Given the description of an element on the screen output the (x, y) to click on. 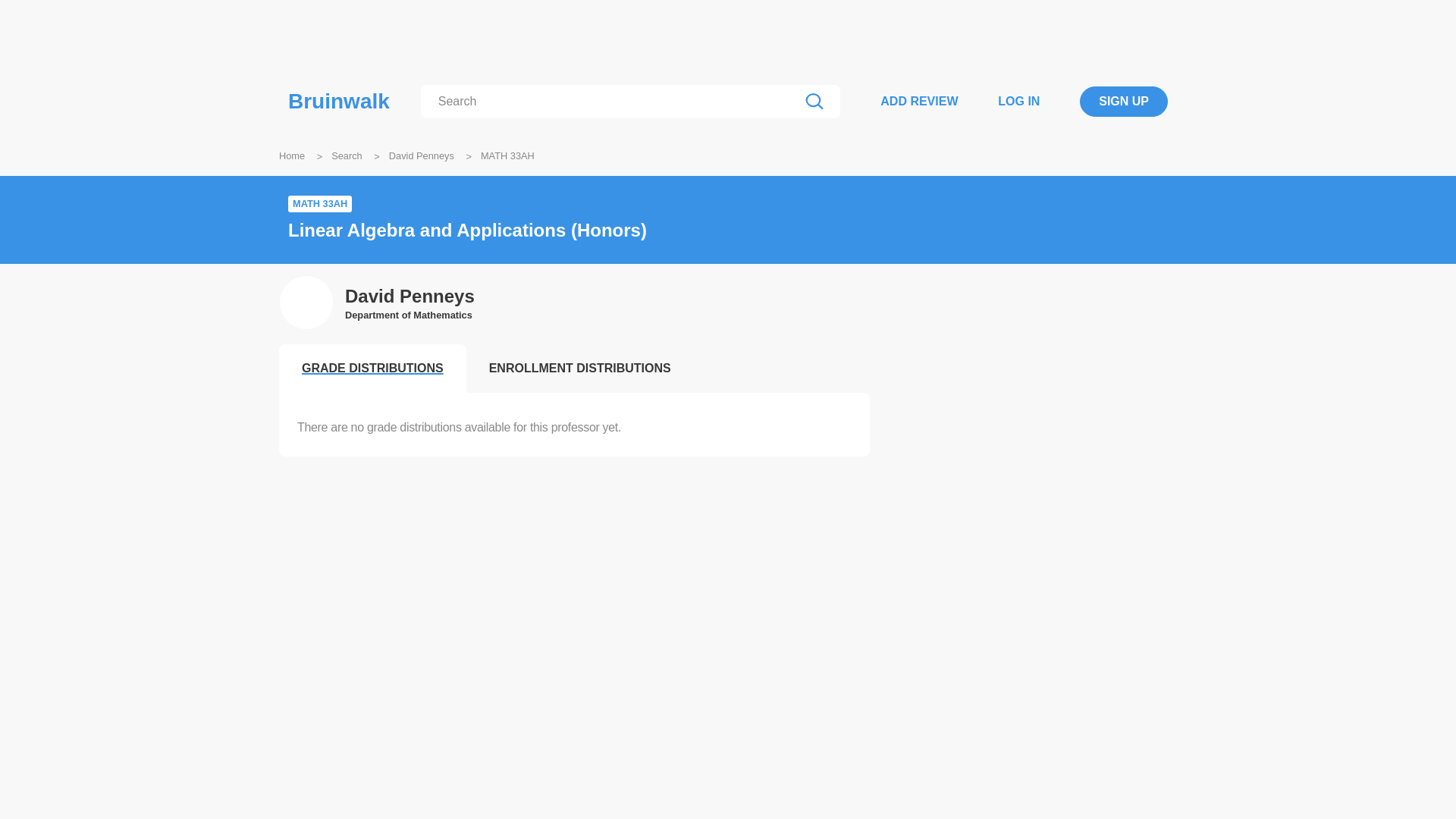
Search (346, 155)
David Penneys (421, 155)
SIGN UP (1123, 101)
Bruinwalk (339, 101)
Home (291, 155)
LOG IN (1018, 101)
ADD REVIEW (919, 101)
David Penneys (409, 296)
